Given the description of an element on the screen output the (x, y) to click on. 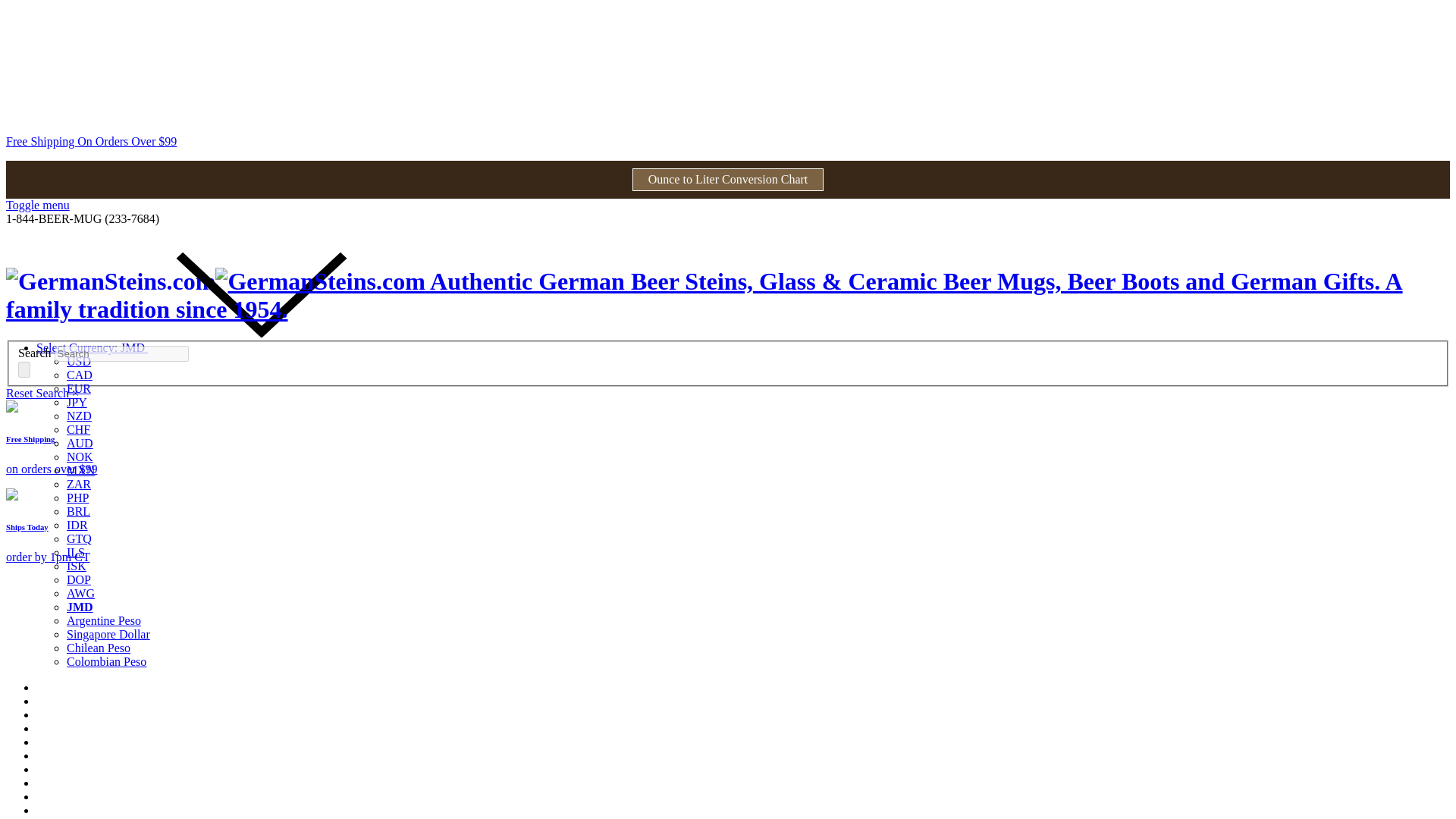
German beer steins, boots, mugs, glasses and other gifts (704, 294)
Contact Us (63, 755)
Wish Lists (61, 714)
ISK (75, 565)
Sign Up (95, 796)
FAQ (47, 782)
Chilean Peso (98, 647)
ILS (75, 552)
DOP (78, 579)
PHP (77, 497)
Gift Certificates (75, 727)
Login (50, 796)
NZD (78, 415)
Colombian Peso (106, 661)
